Given the description of an element on the screen output the (x, y) to click on. 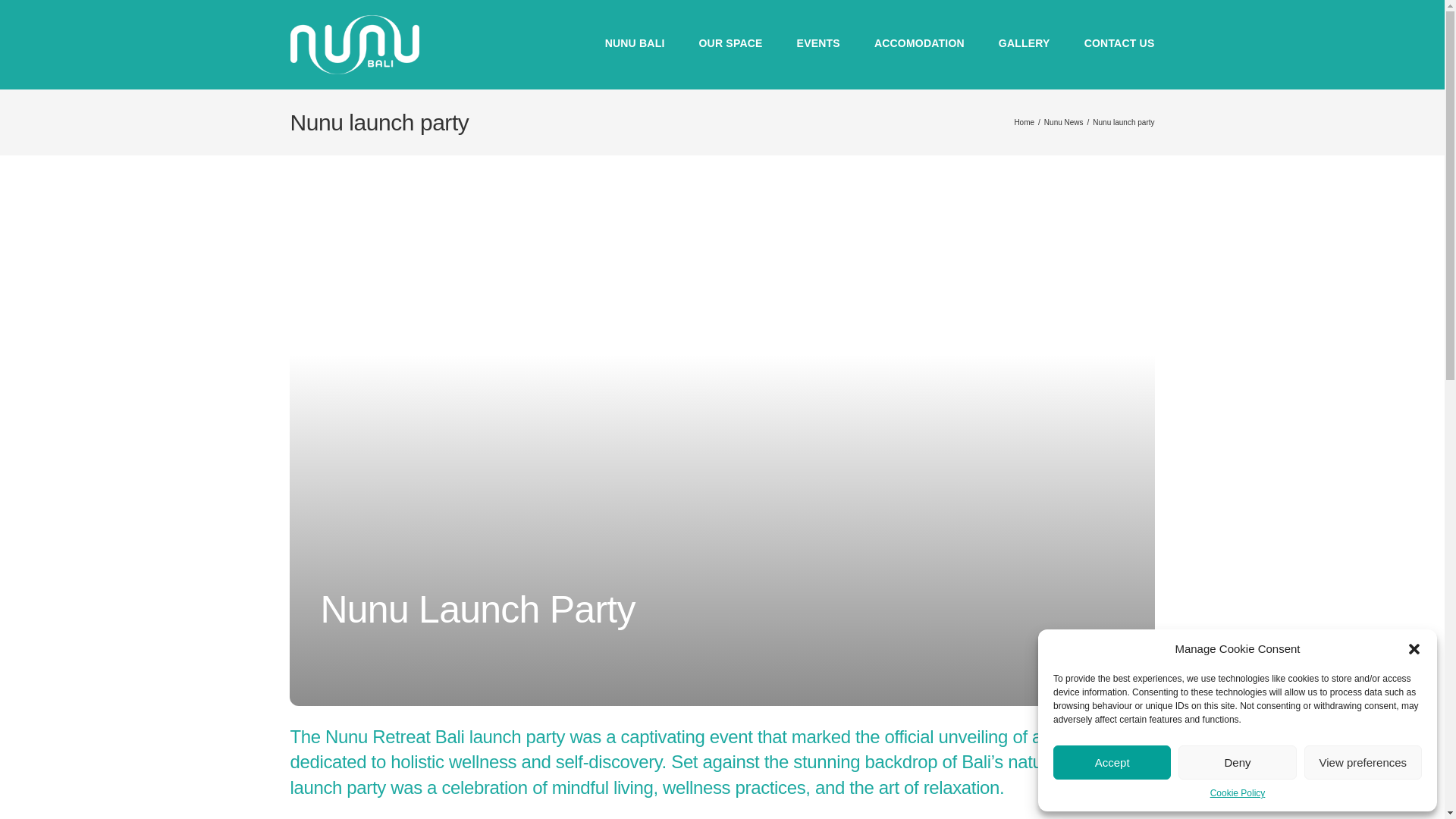
Cookie Policy (1237, 793)
View preferences (1363, 762)
EVENTS (818, 44)
ACCOMODATION (919, 44)
Home (1023, 121)
Deny (1236, 762)
Accept (1111, 762)
GALLERY (1023, 44)
OUR SPACE (730, 44)
CONTACT US (1119, 44)
Nunu News (1063, 121)
NUNU BALI (635, 44)
